Given the description of an element on the screen output the (x, y) to click on. 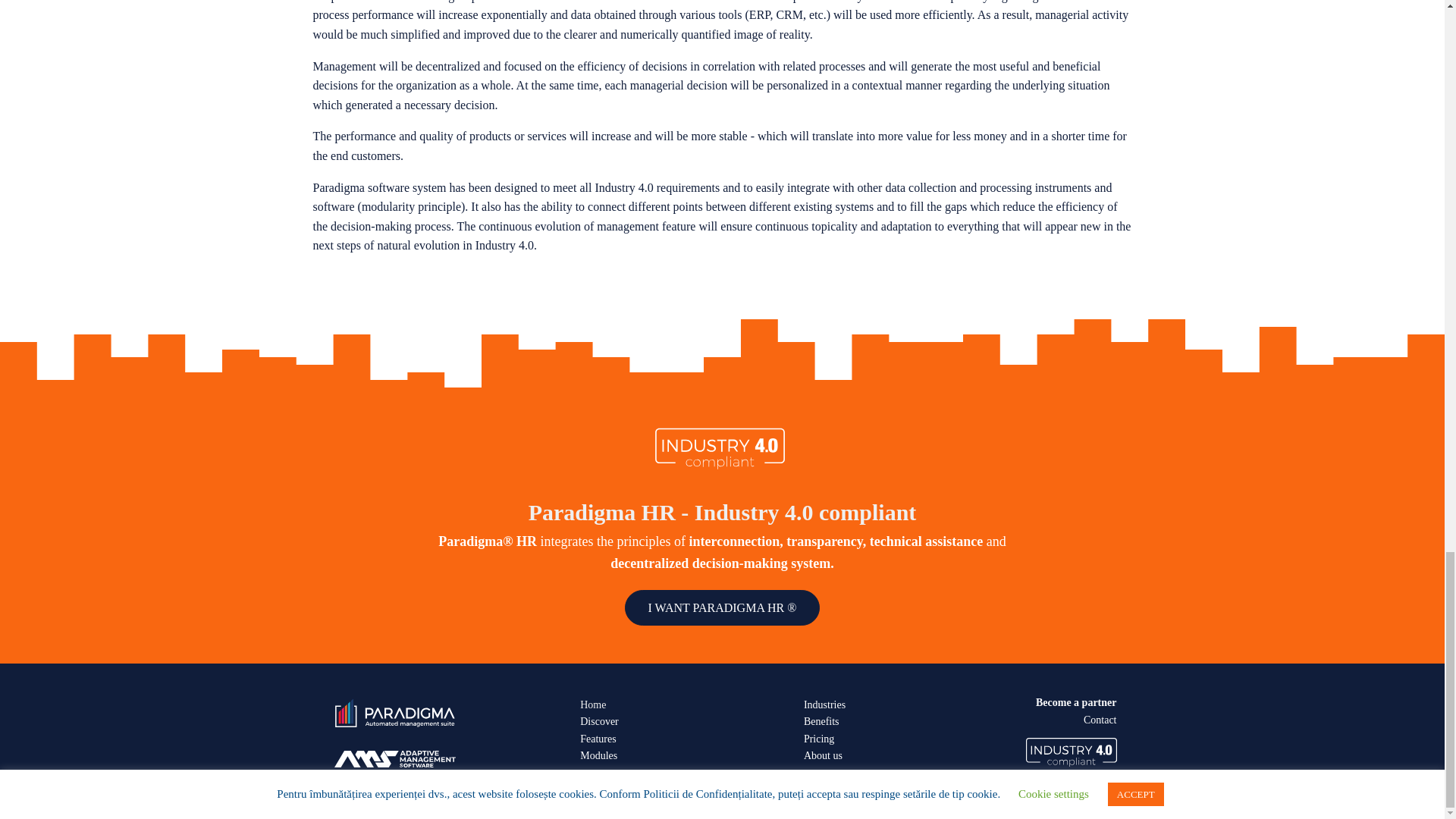
Confidentiality policy (833, 806)
Terms and conditions (687, 806)
Become a partner (1075, 702)
Contact (1099, 719)
About us (823, 755)
Modules (598, 755)
Discover (598, 721)
Pricing (818, 739)
Home (592, 704)
Industries (824, 704)
Features (597, 739)
Benefits (821, 721)
Cookie policy (760, 806)
